Given the description of an element on the screen output the (x, y) to click on. 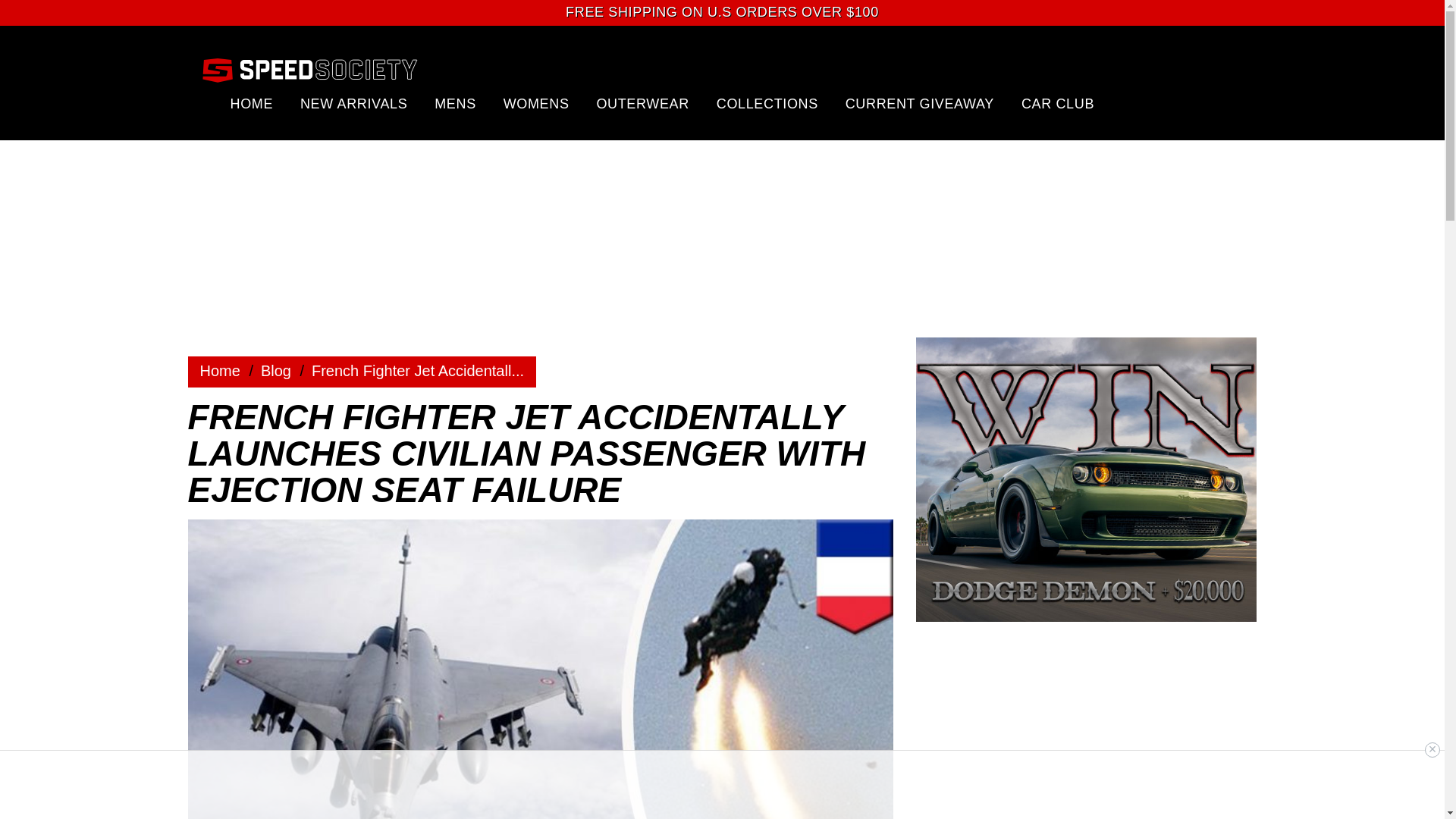
Home (220, 370)
MENS (454, 103)
Home (220, 370)
CAR CLUB (1058, 103)
Blog (275, 370)
French Fighter Jet Accidentall... (417, 370)
Home (275, 370)
speed society logo (308, 69)
HOME (251, 103)
WOMENS (536, 103)
COLLECTIONS (767, 103)
OUTERWEAR (641, 103)
NEW ARRIVALS (353, 103)
CURRENT GIVEAWAY (919, 103)
